Given the description of an element on the screen output the (x, y) to click on. 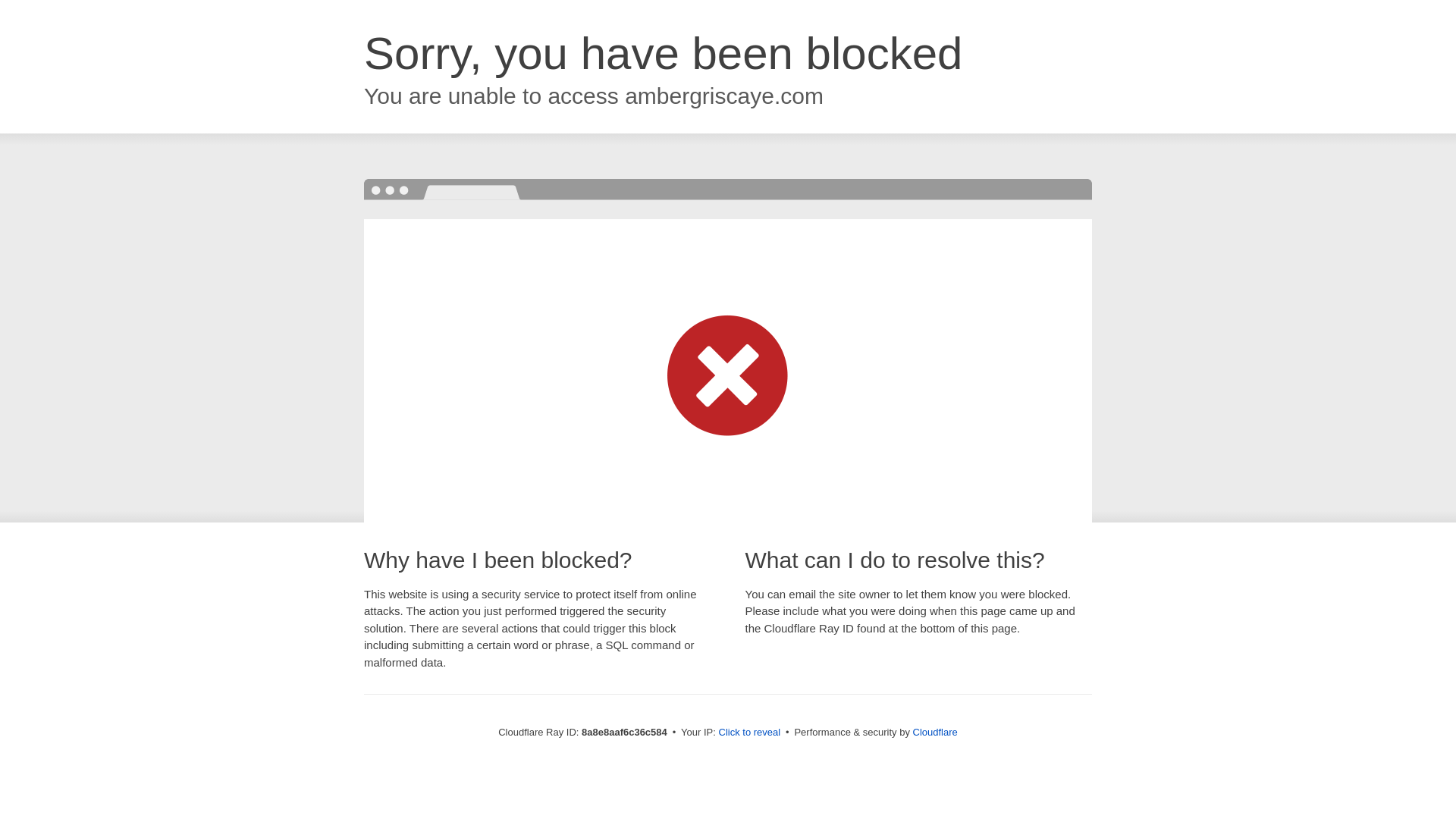
Click to reveal (749, 732)
Cloudflare (935, 731)
